Given the description of an element on the screen output the (x, y) to click on. 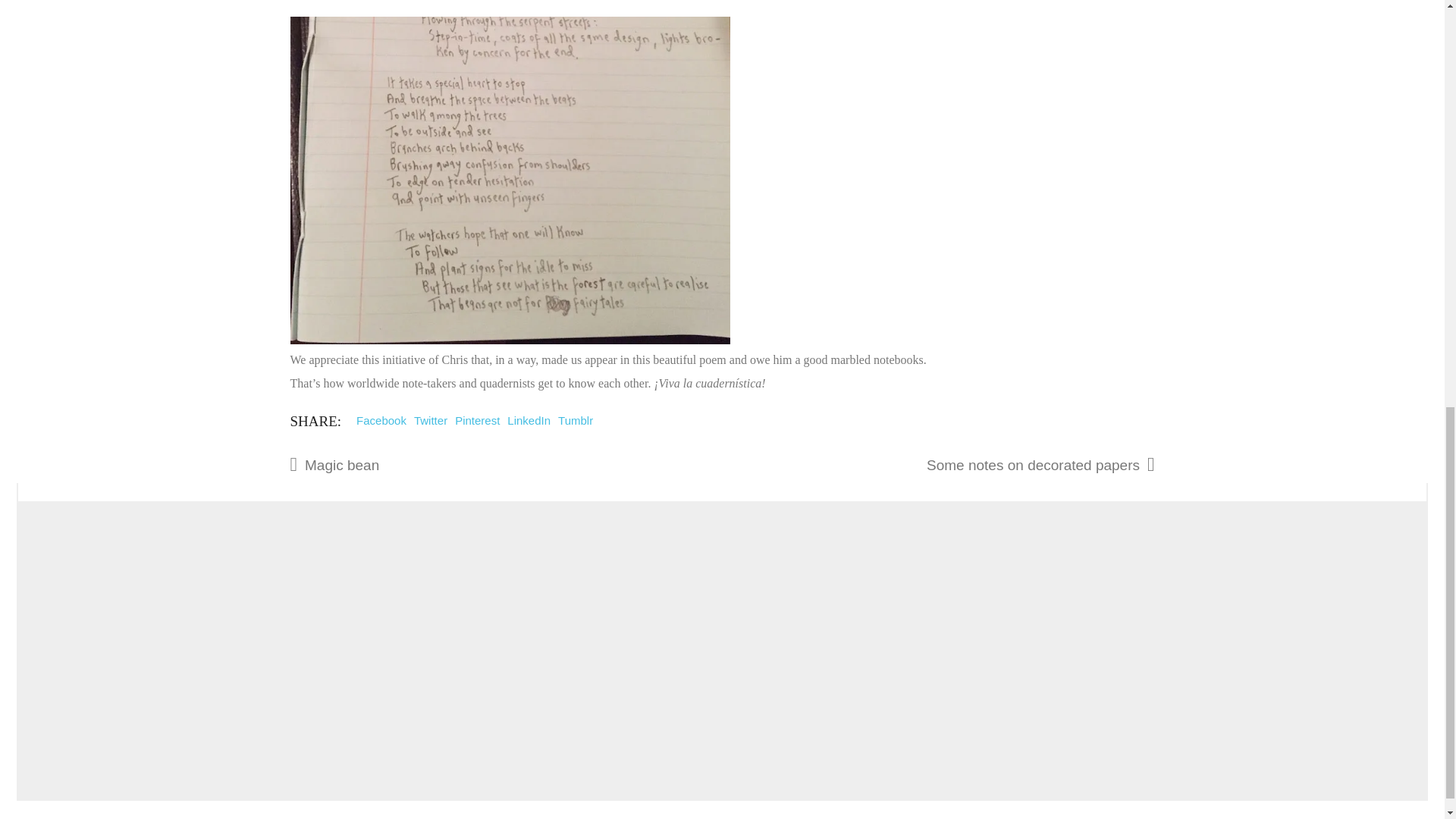
Tumblr (574, 420)
Twitter (429, 420)
LinkedIn (528, 420)
Pinterest (476, 420)
Magic bean (459, 464)
Some notes on decorated papers (914, 464)
Facebook (381, 420)
